Given the description of an element on the screen output the (x, y) to click on. 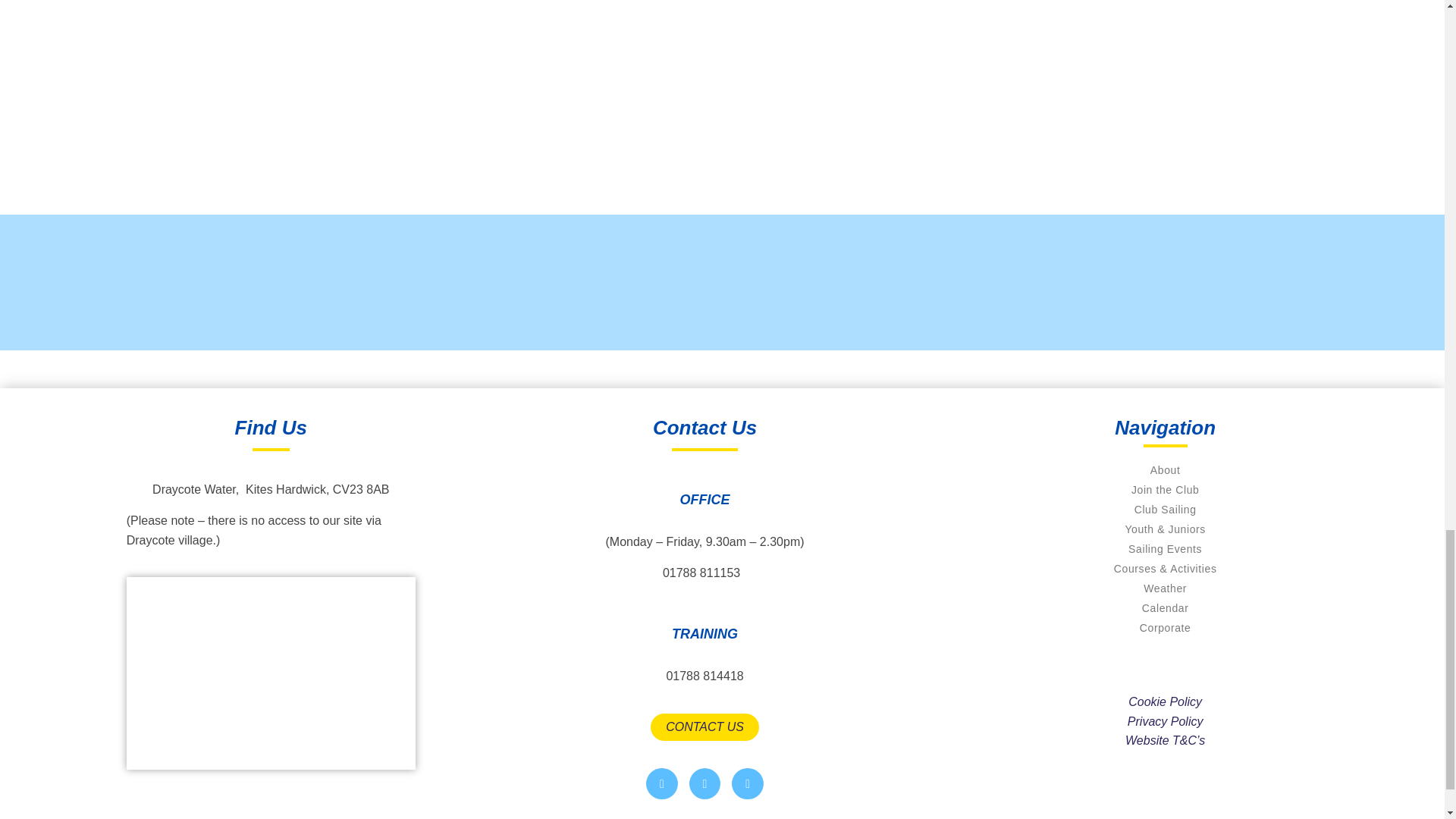
draycote water sailing club (270, 673)
